Given the description of an element on the screen output the (x, y) to click on. 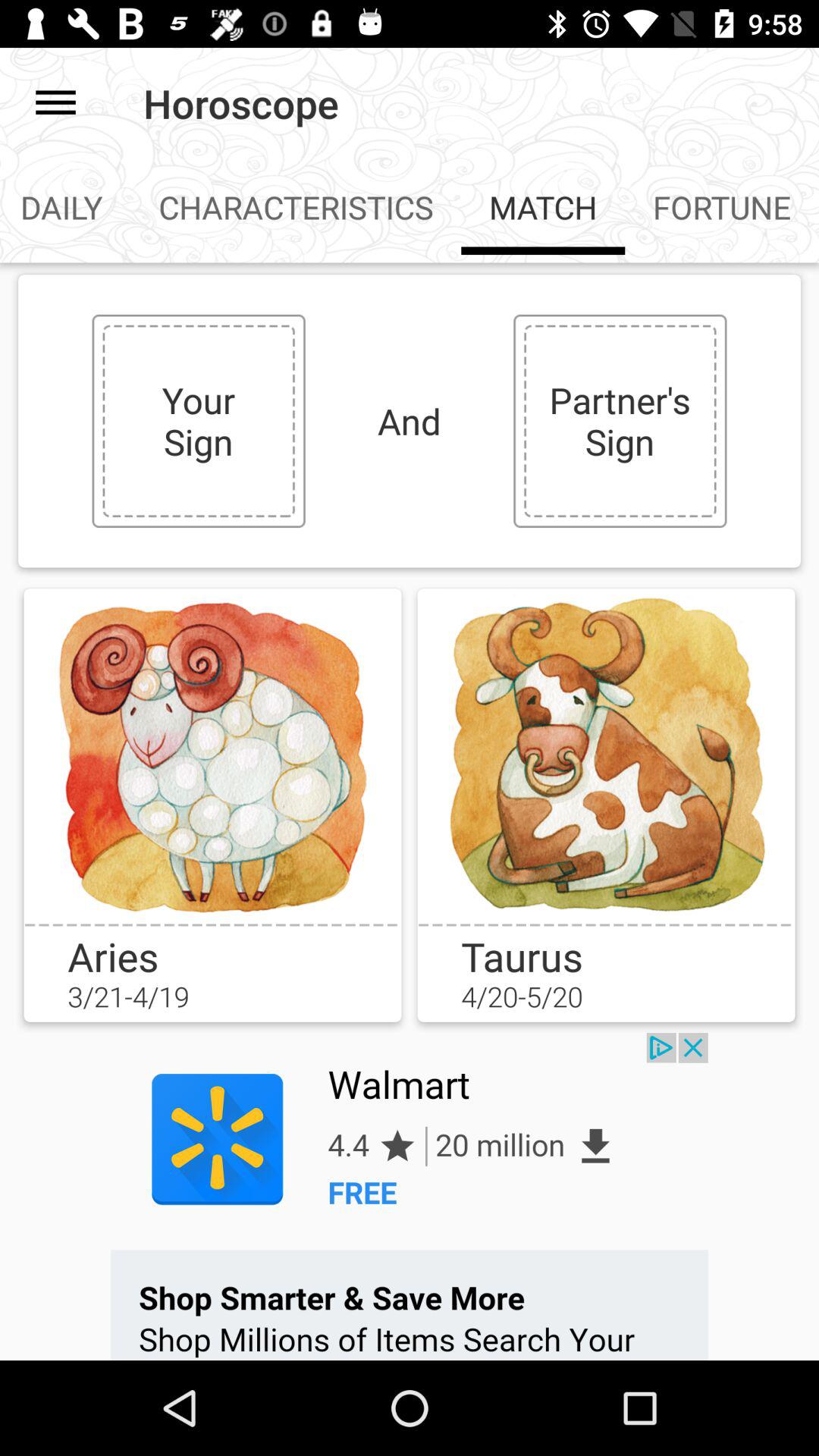
add image to box (606, 755)
